Given the description of an element on the screen output the (x, y) to click on. 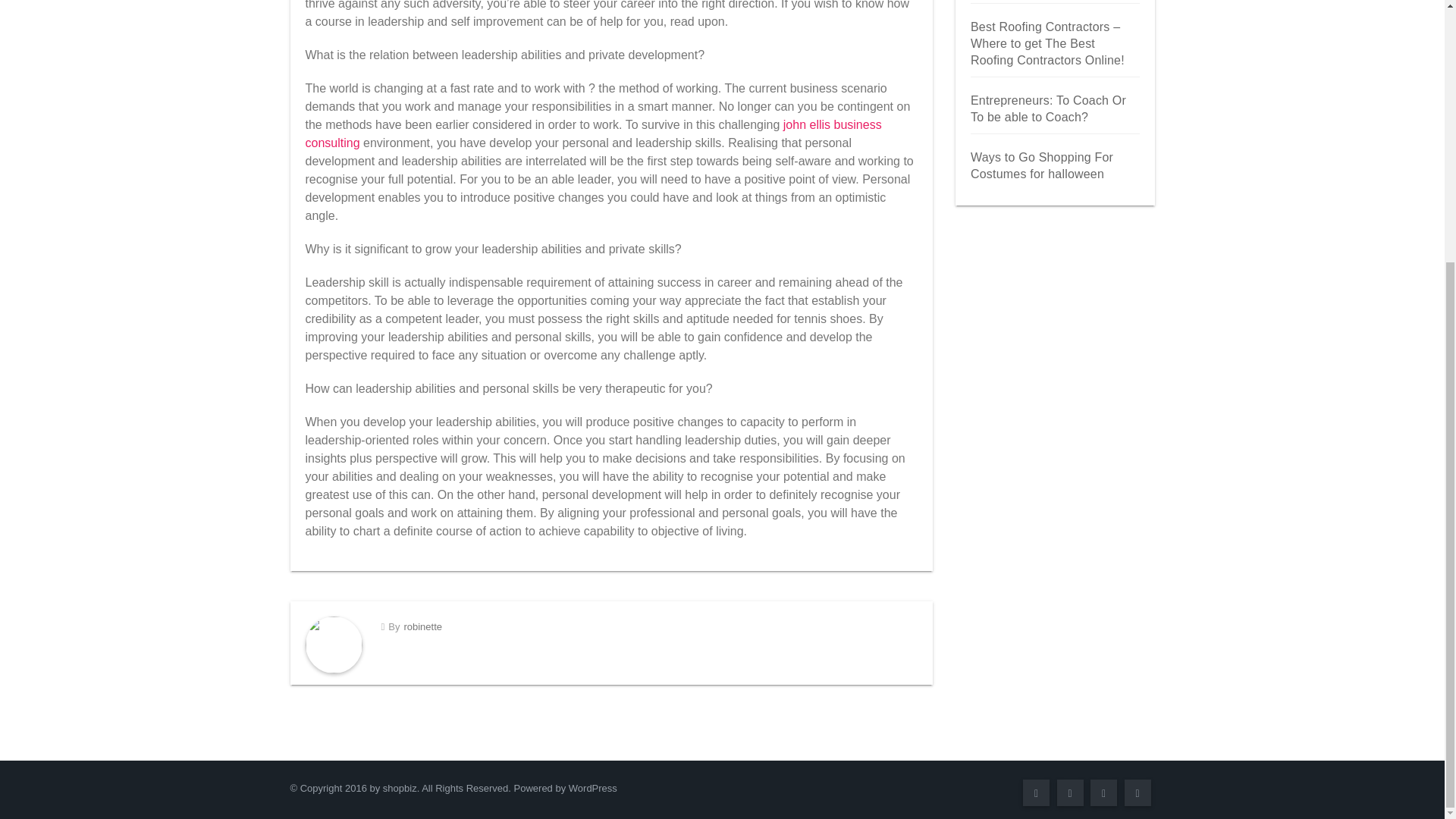
Ways to Go Shopping For Costumes for halloween (1042, 165)
robinette (422, 626)
WordPress (593, 787)
john ellis business consulting (592, 133)
shopbiz (399, 787)
Entrepreneurs: To Coach Or To be able to Coach? (1048, 108)
